Given the description of an element on the screen output the (x, y) to click on. 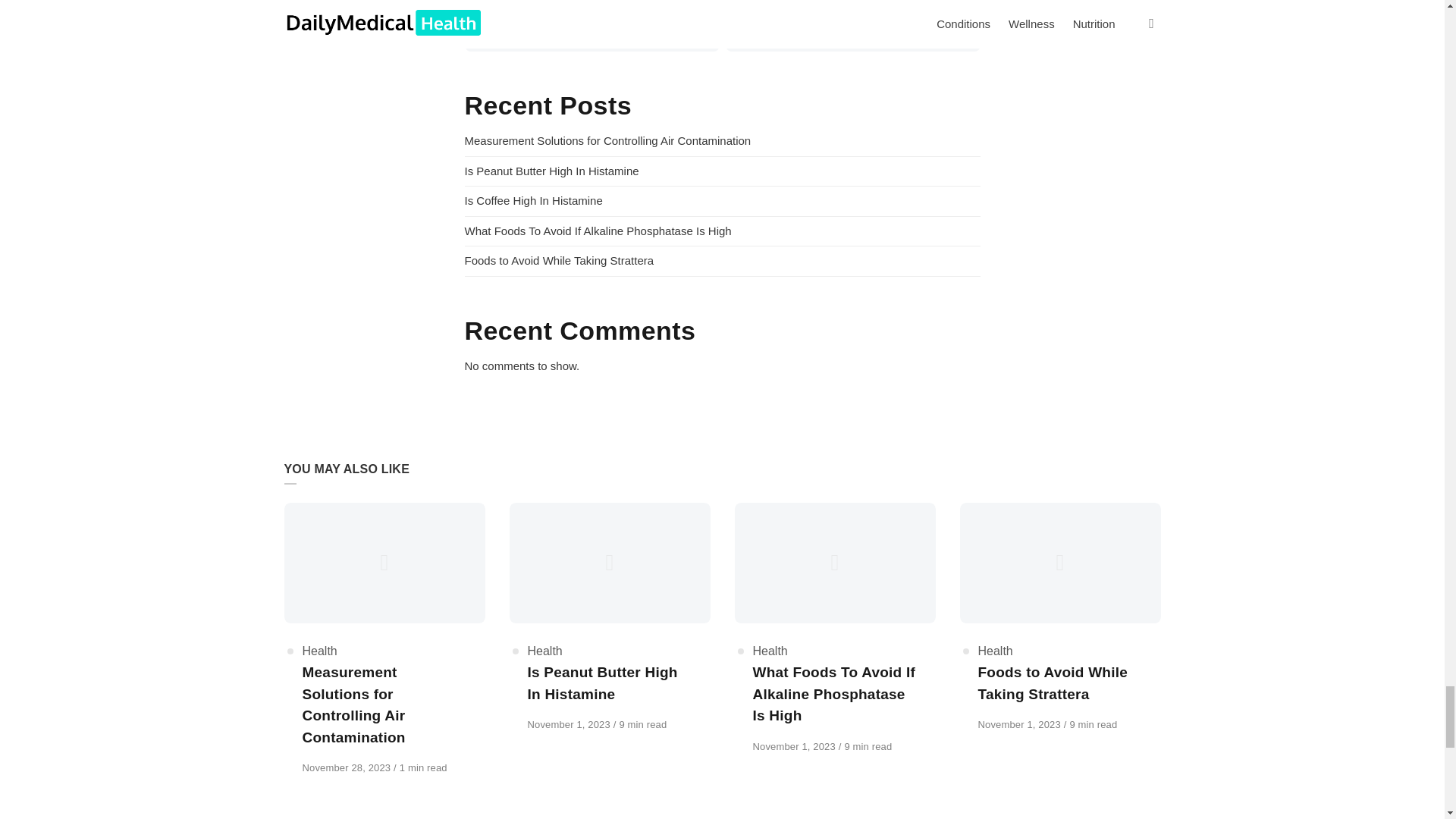
Foods to Avoid While Taking Strattera (558, 259)
November 1, 2023 (1021, 724)
November 28, 2023 (347, 767)
Health (544, 650)
How To Get Admitted To The Hospital Overnight (590, 15)
November 1, 2023 (569, 724)
Is Coffee High In Histamine (533, 200)
When To Go To Hospital For Sinus Infection (851, 15)
Health (318, 650)
November 1, 2023 (795, 746)
